Given the description of an element on the screen output the (x, y) to click on. 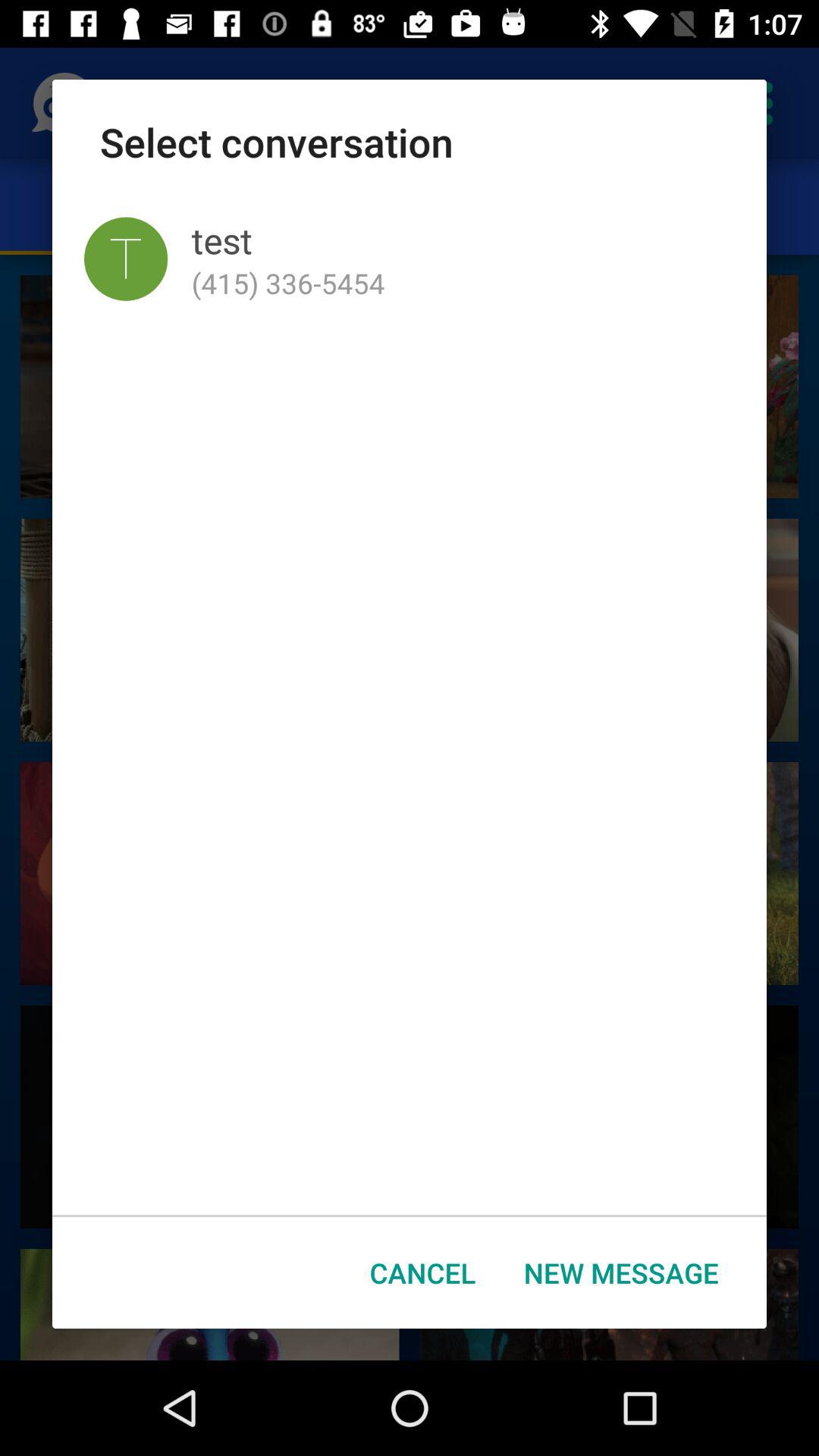
scroll until cancel item (422, 1272)
